Given the description of an element on the screen output the (x, y) to click on. 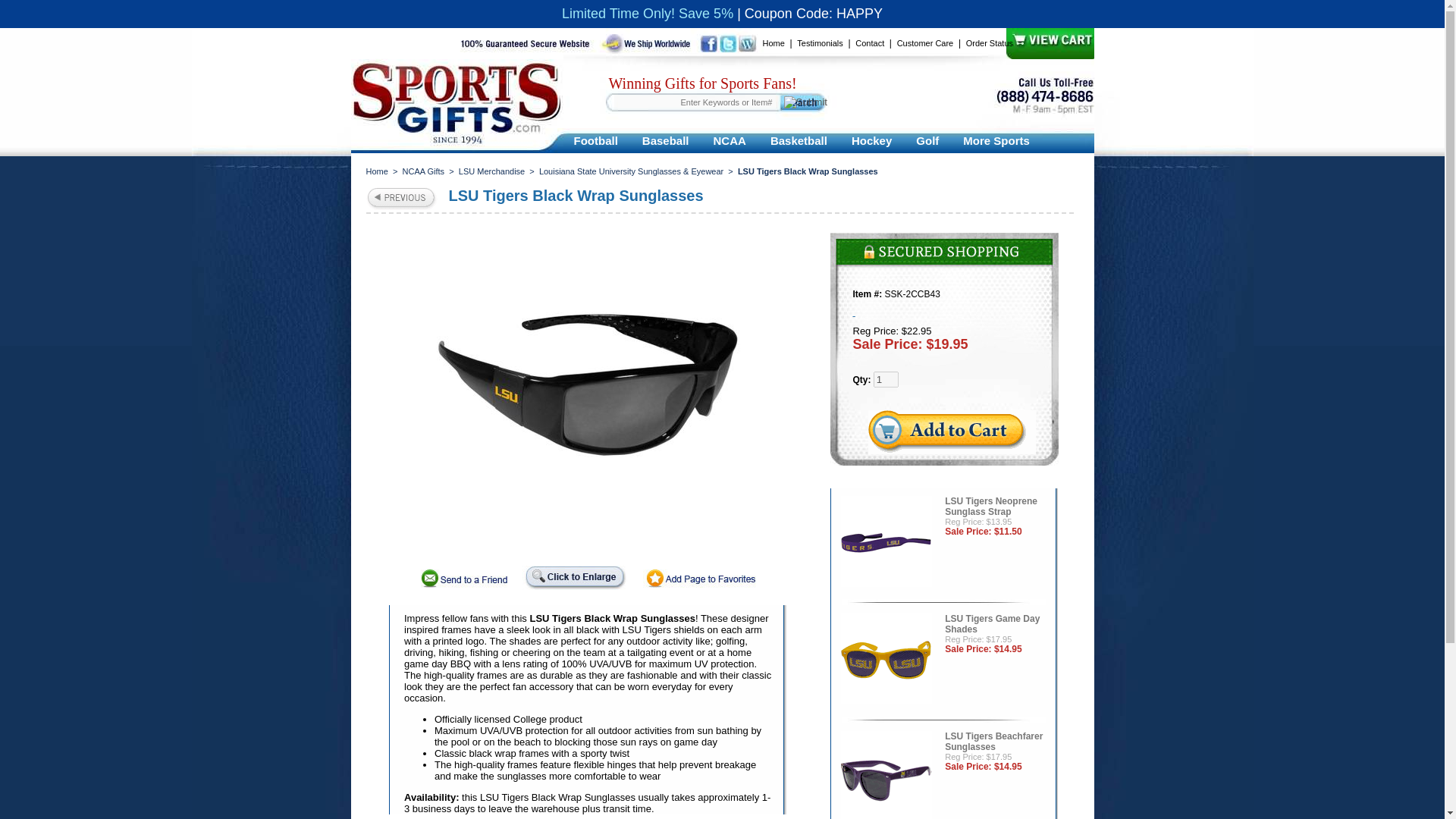
Home (773, 42)
1 (885, 379)
Hockey (872, 140)
LSU Tigers Neoprene Sunglass Strap (886, 543)
Customer Care (924, 42)
LSU Tigers Beachfarer Sunglasses (886, 775)
LSU Tigers Game Day Shades (886, 660)
NCAA (729, 140)
Order Status (989, 42)
Testimonials (819, 42)
